Given the description of an element on the screen output the (x, y) to click on. 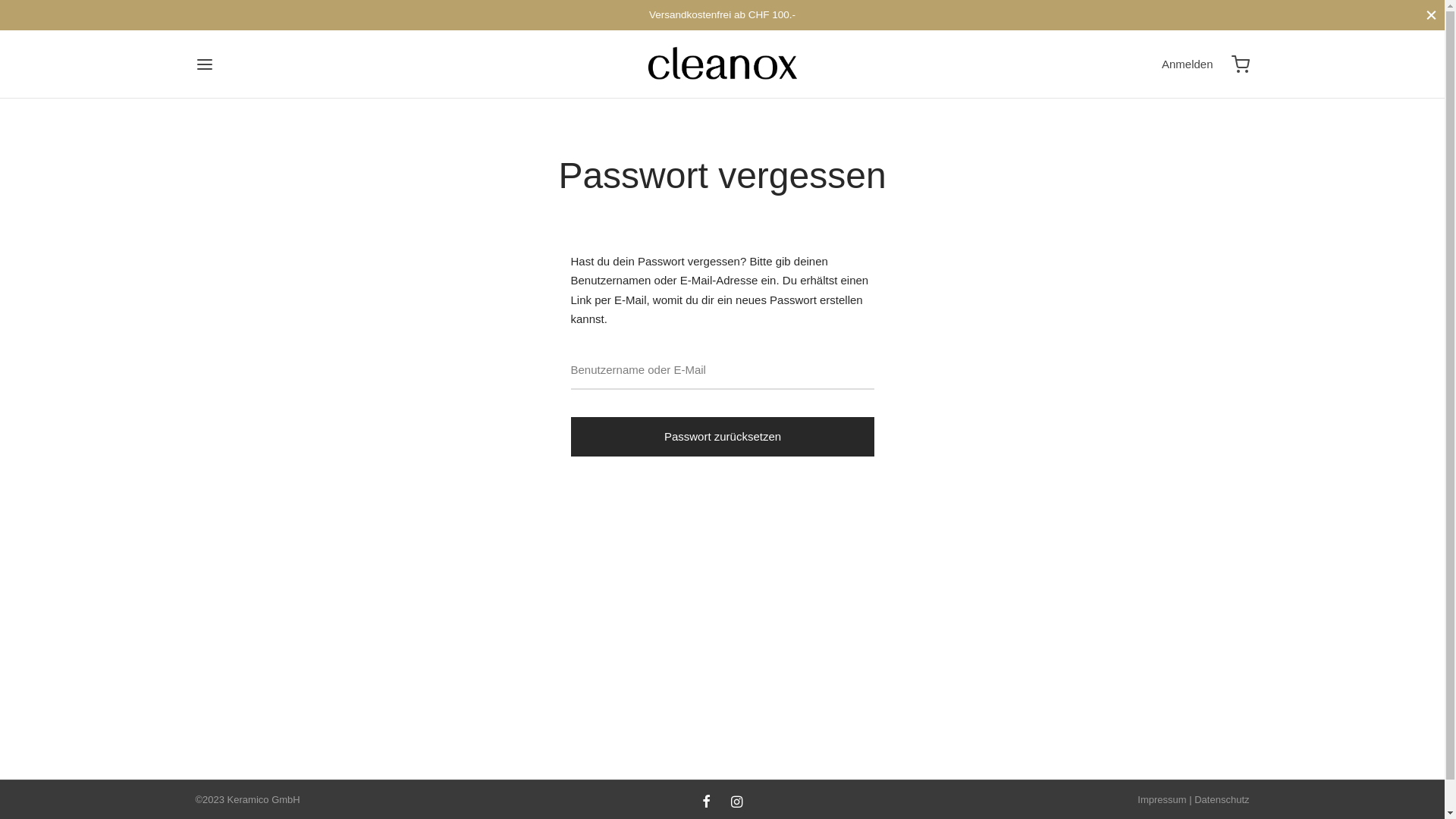
Impressum Element type: text (1161, 799)
facebook Element type: hover (706, 802)
Anmelden Element type: text (1187, 64)
instagram Element type: hover (736, 802)
Warenkorb Element type: hover (1240, 64)
Datenschutz Element type: text (1221, 799)
